Given the description of an element on the screen output the (x, y) to click on. 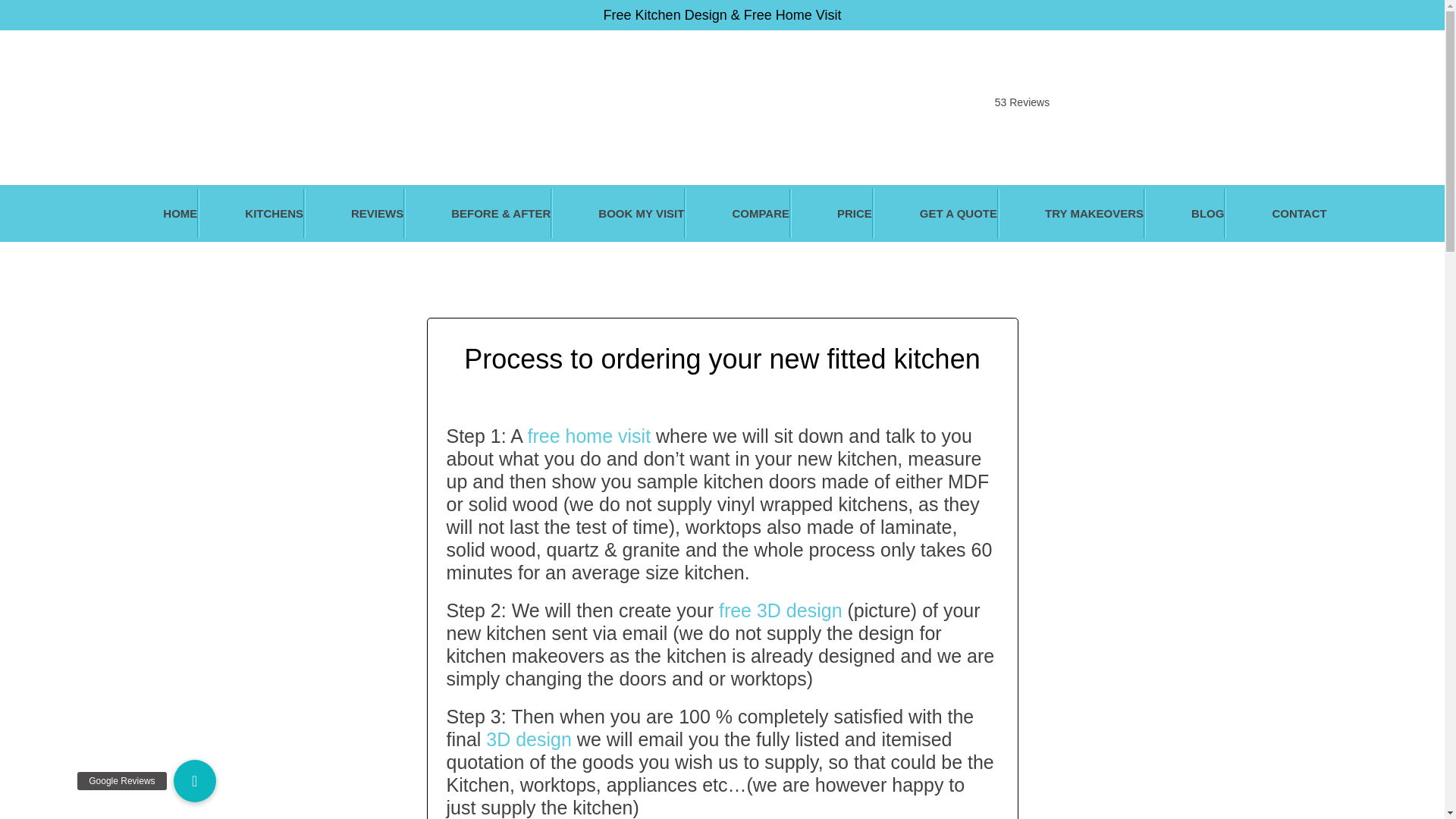
REVIEWS (354, 213)
HOME (157, 213)
Kitchenroom - Fitted Kitchens kitchenroom (721, 86)
KITCHENS (251, 213)
53 Reviews (1021, 92)
